Given the description of an element on the screen output the (x, y) to click on. 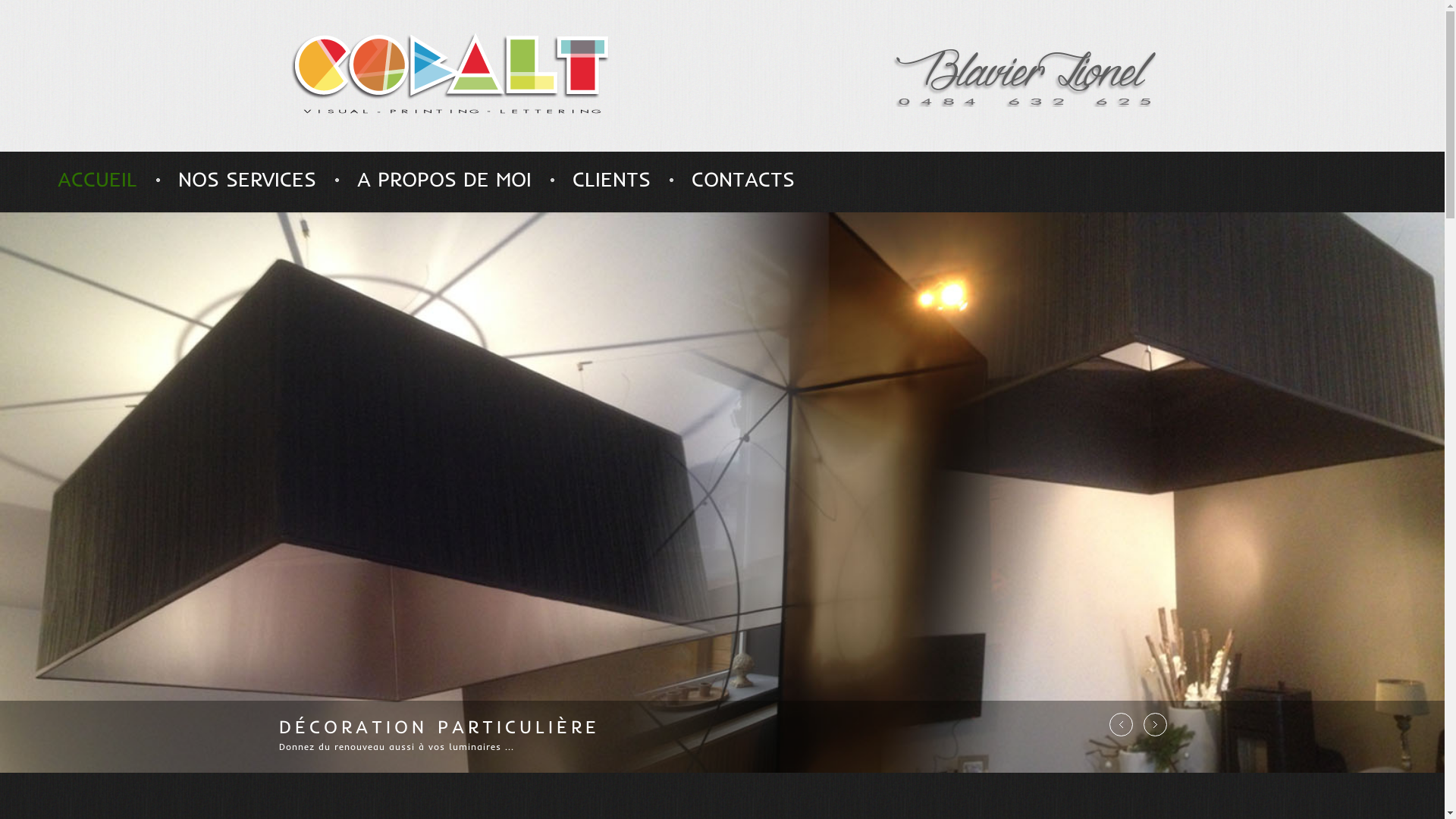
CLIENTS Element type: text (611, 179)
CONTACTS Element type: text (742, 179)
A PROPOS DE MOI Element type: text (444, 179)
ACCUEIL Element type: text (97, 179)
NOS SERVICES Element type: text (247, 179)
